Given the description of an element on the screen output the (x, y) to click on. 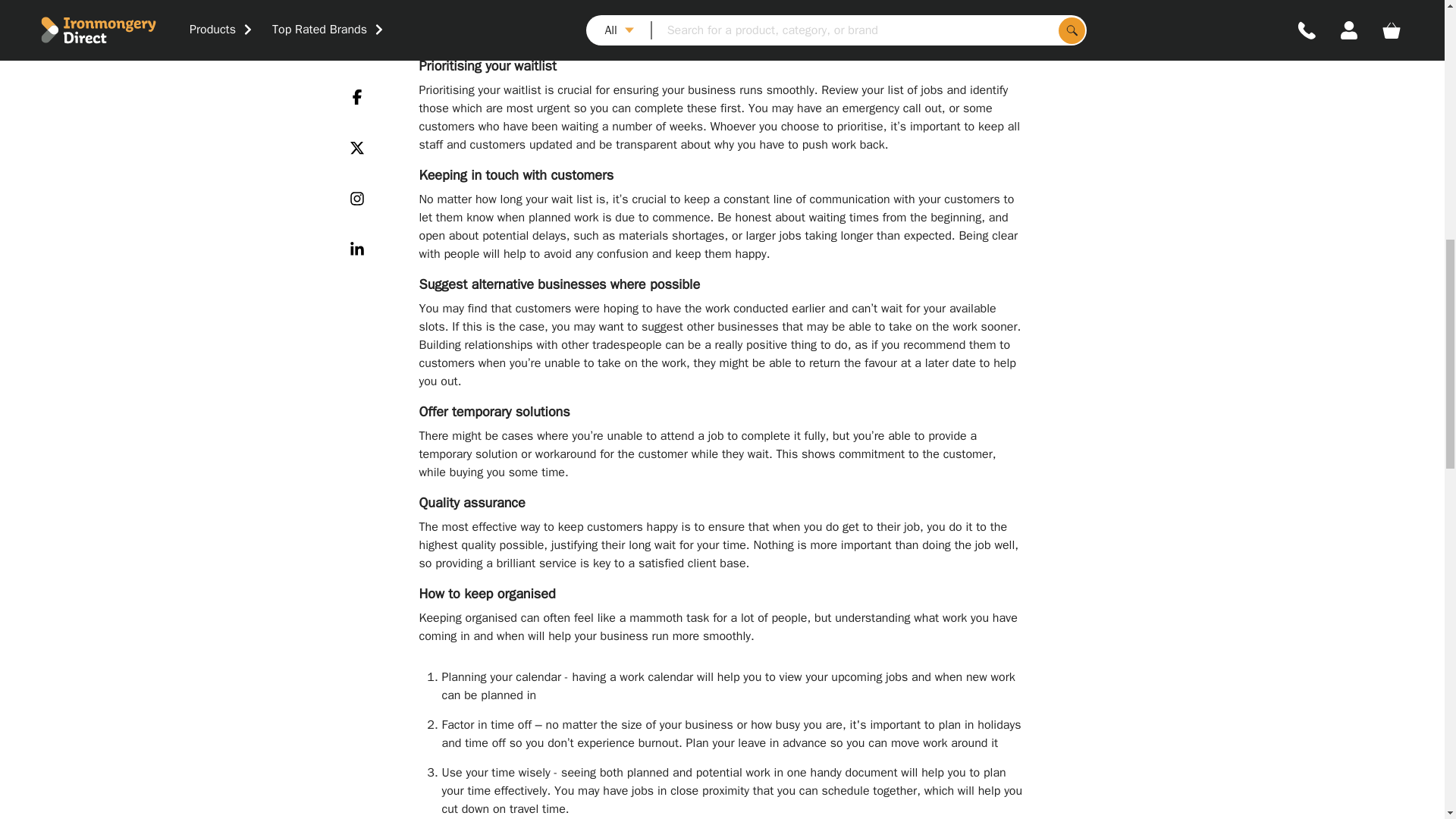
Share on LinkedIn (355, 7)
